Given the description of an element on the screen output the (x, y) to click on. 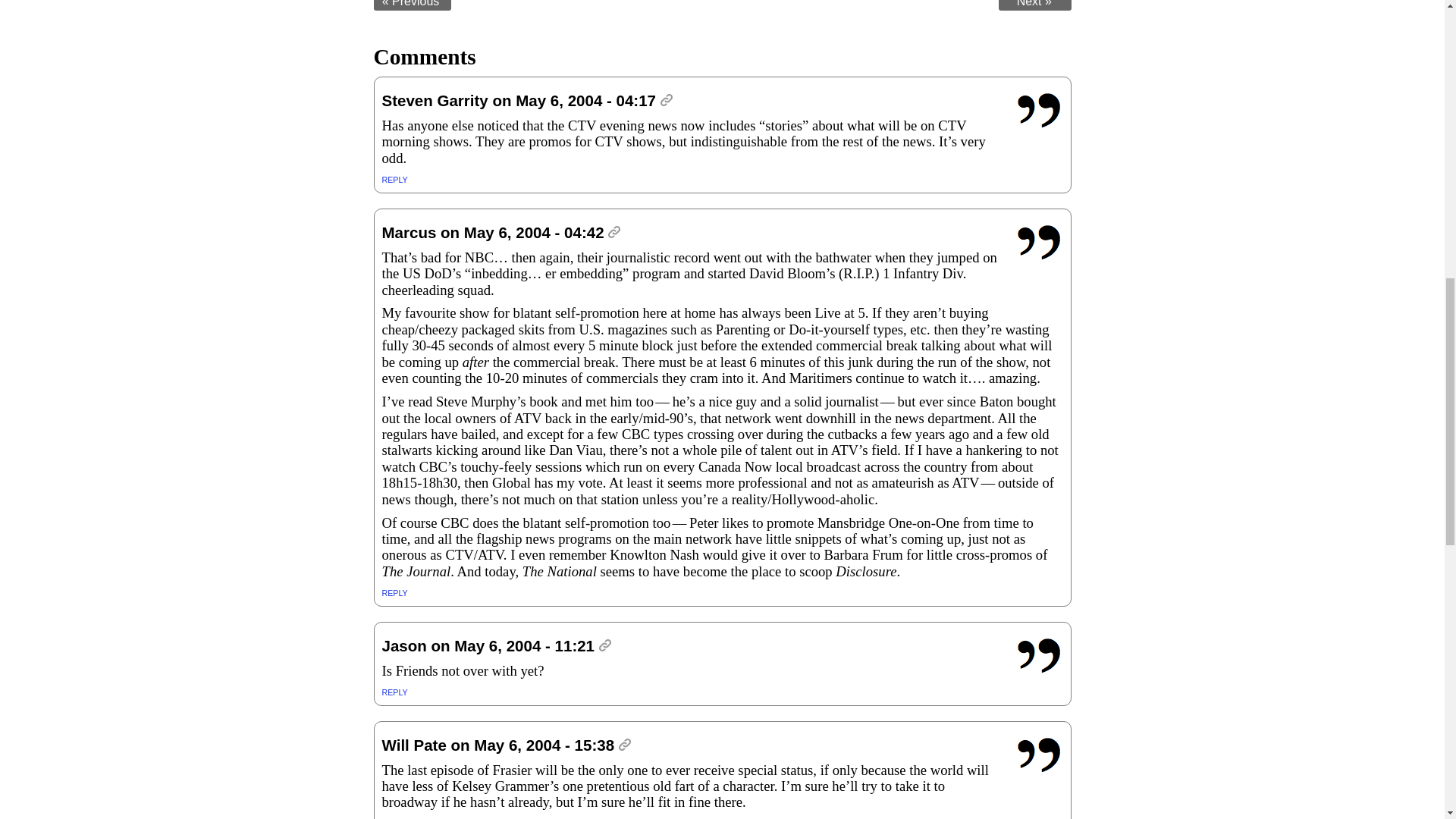
Will Pate's picture (1039, 755)
REPLY (394, 592)
The Globetrotters Club (411, 5)
Jason's picture (1039, 655)
Marcus's picture (1039, 242)
Steven Garrity's picture (1039, 110)
REPLY (394, 179)
REPLY (394, 691)
Spartan (1034, 5)
